Given the description of an element on the screen output the (x, y) to click on. 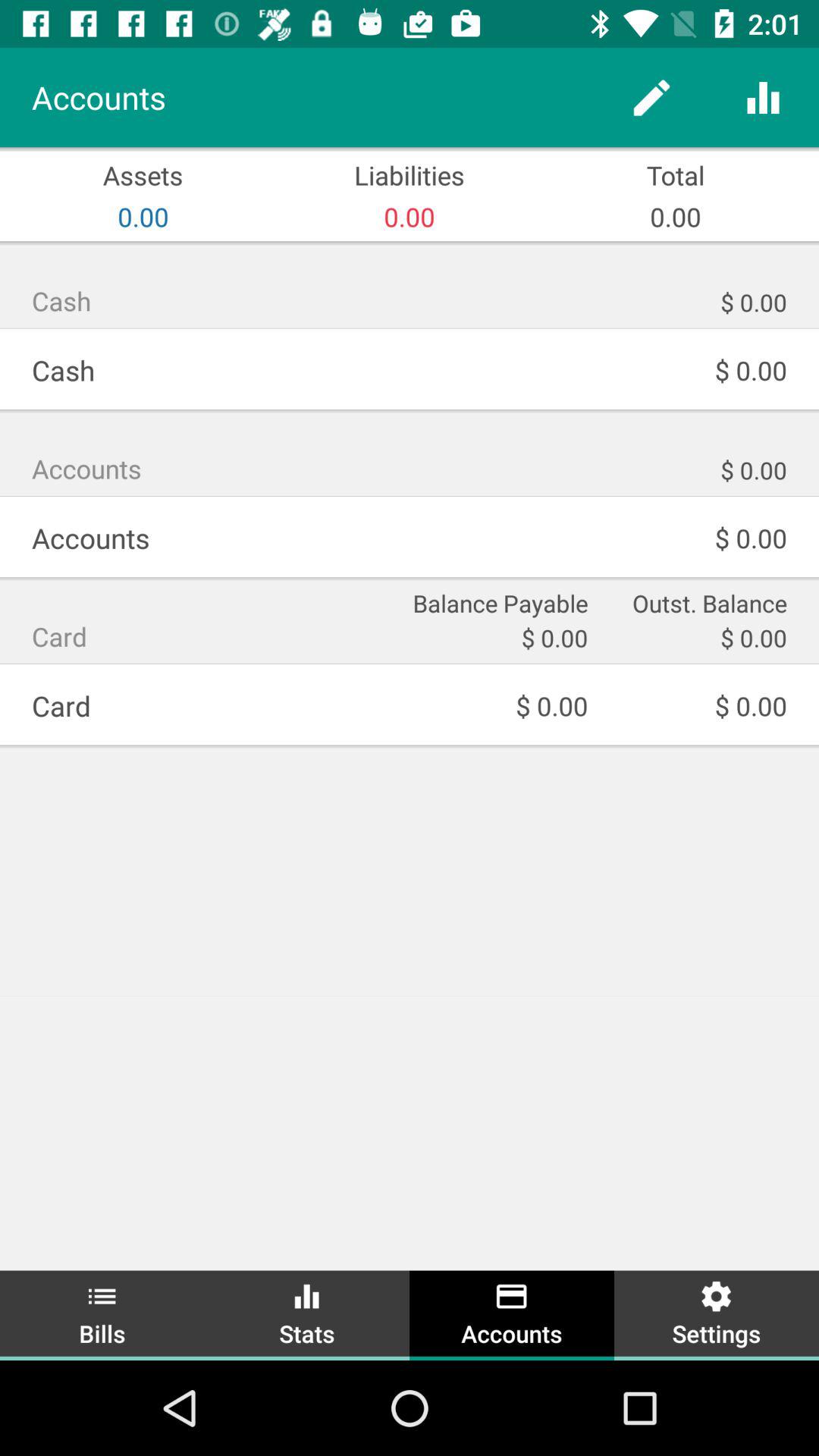
click the icon above card item (498, 601)
